Given the description of an element on the screen output the (x, y) to click on. 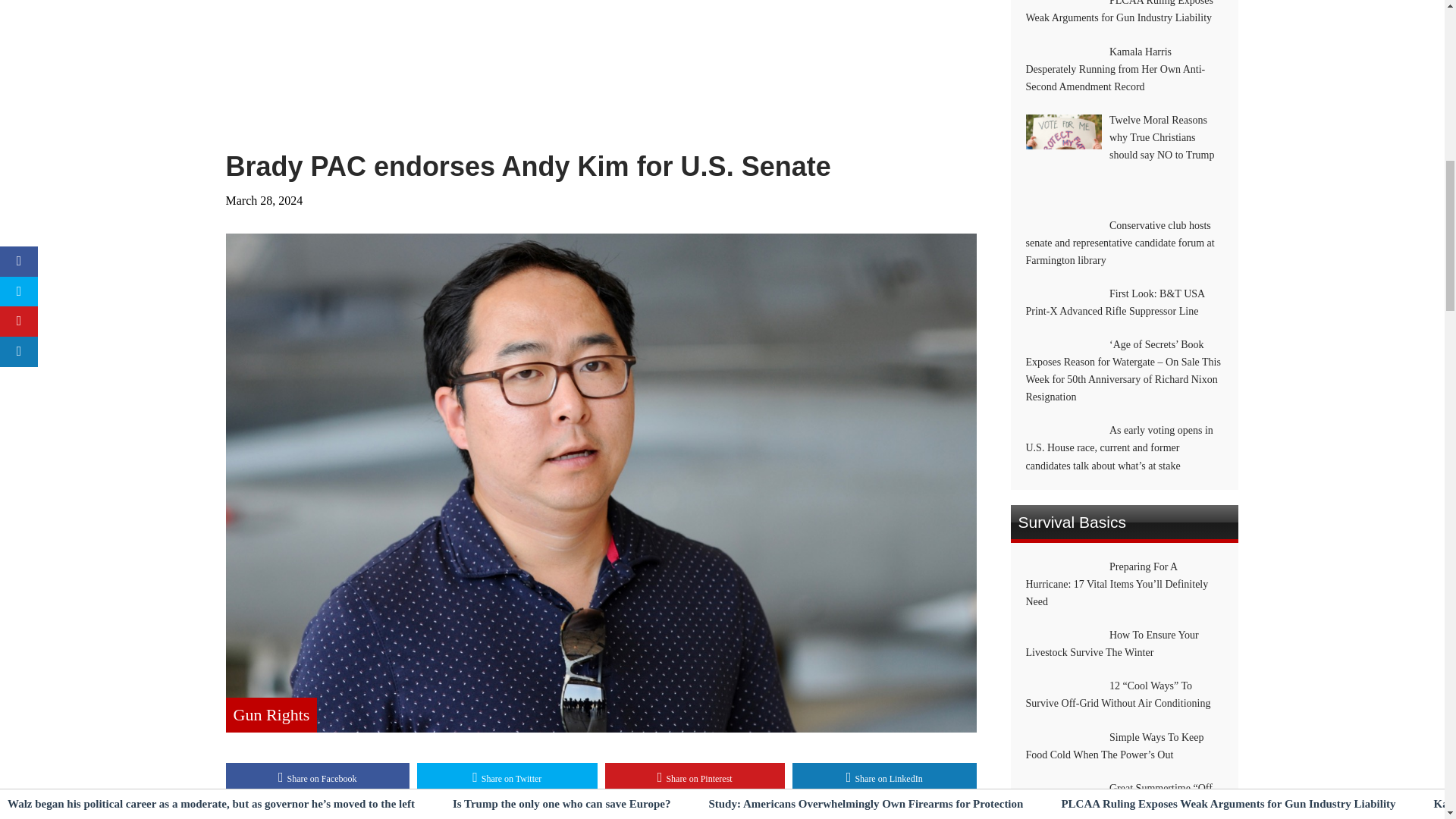
Gun Rights (271, 714)
